Given the description of an element on the screen output the (x, y) to click on. 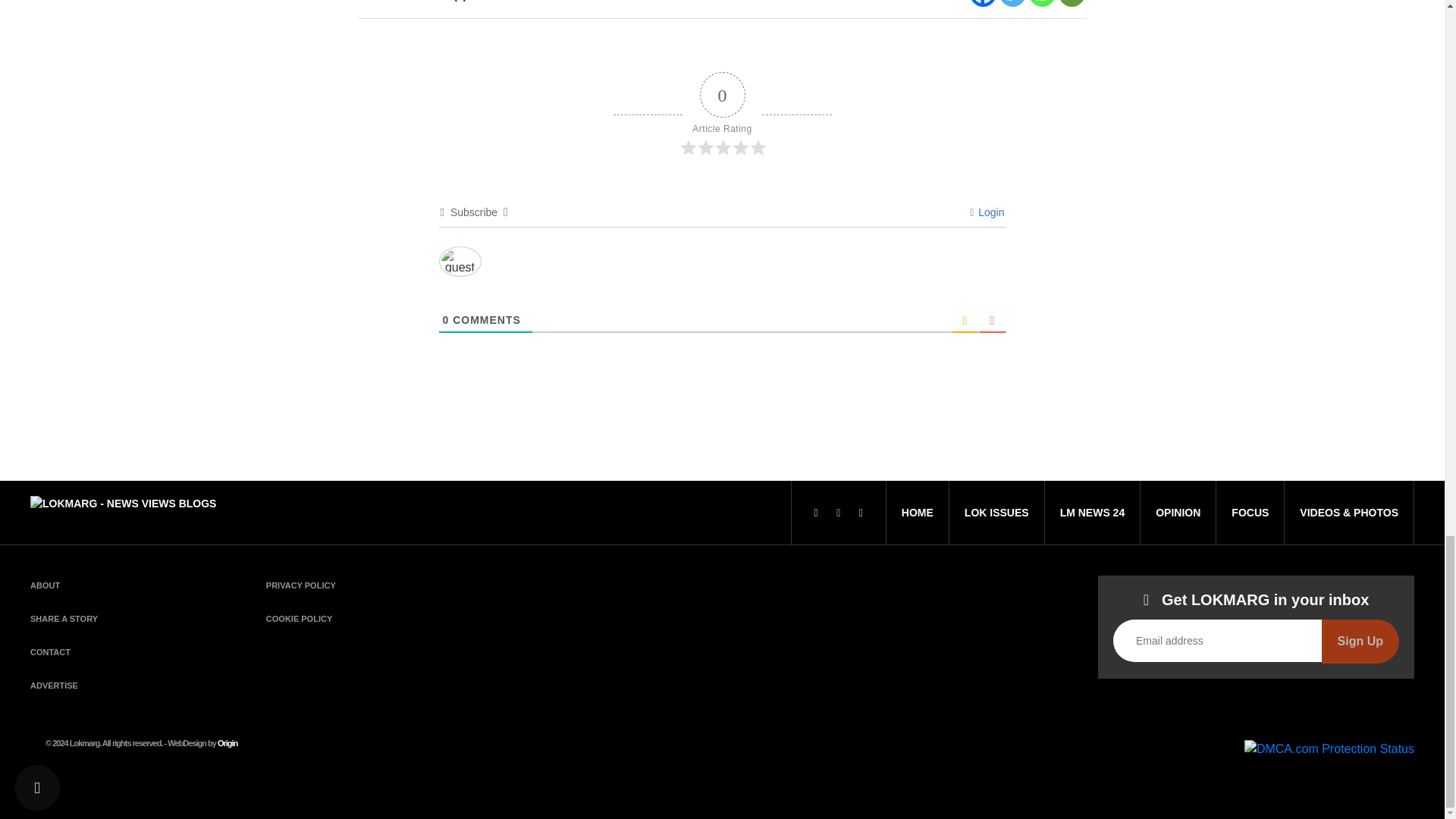
Login (986, 212)
Sign Up (1360, 641)
